Given the description of an element on the screen output the (x, y) to click on. 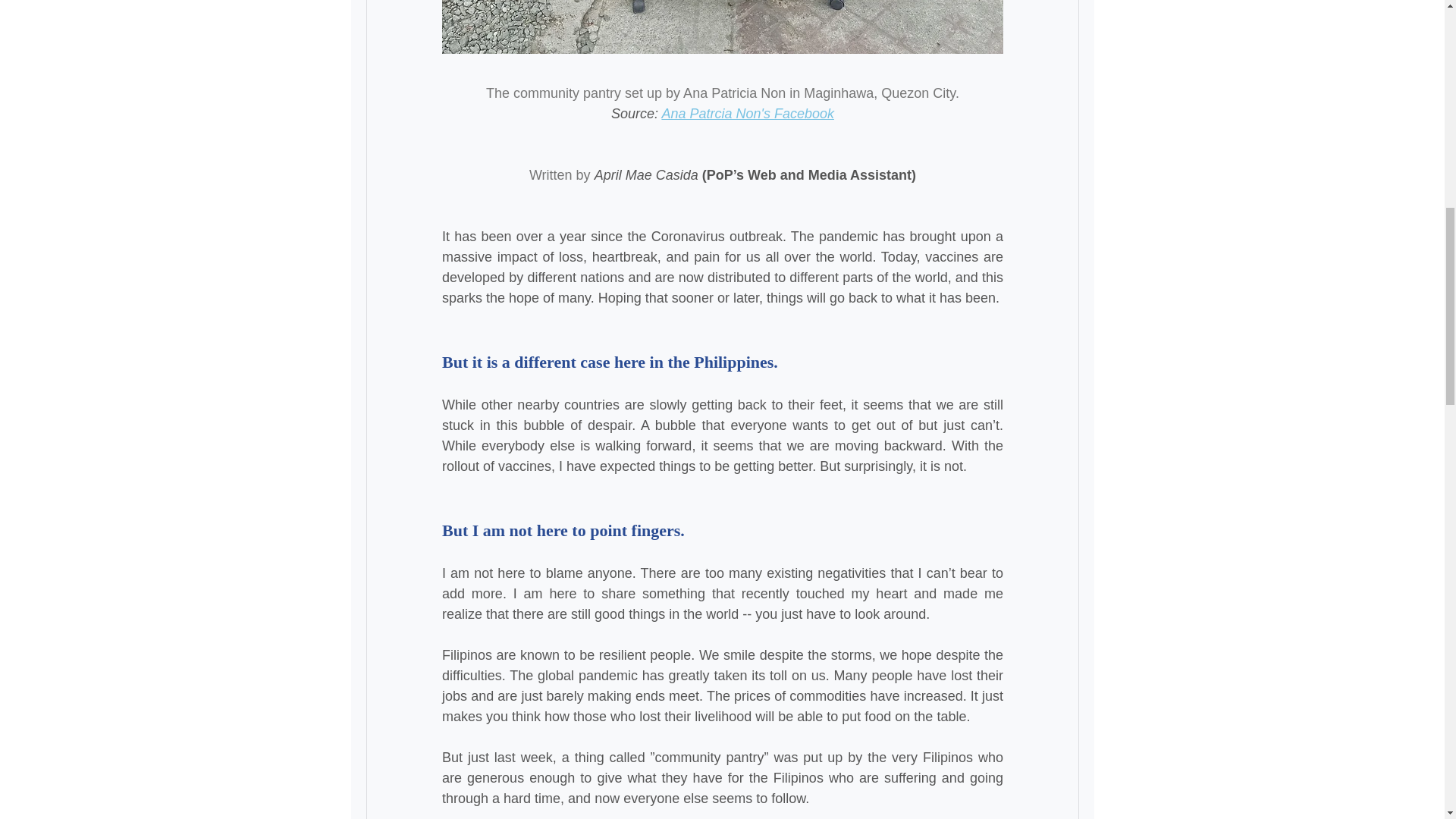
Ana Patrcia Non's Facebook (747, 113)
